Given the description of an element on the screen output the (x, y) to click on. 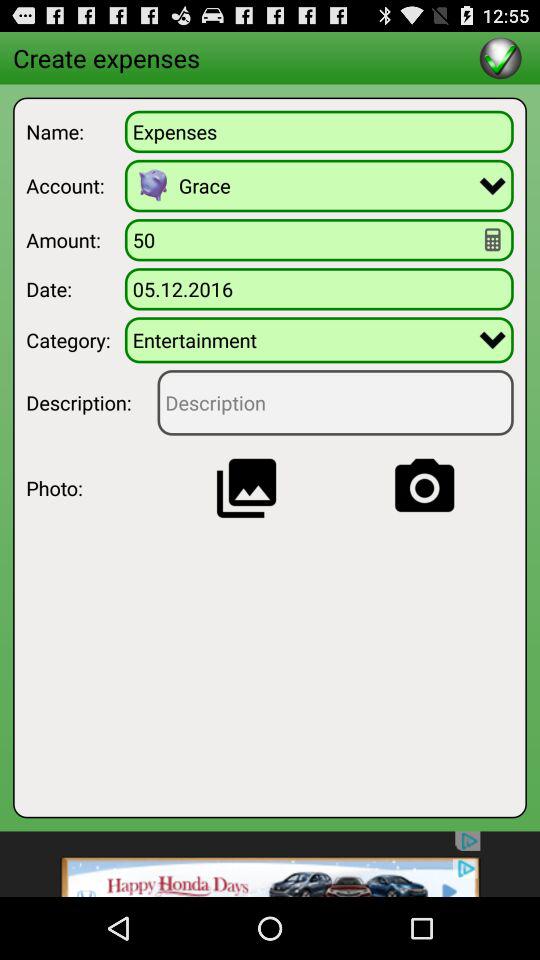
go to camera opption (424, 488)
